Given the description of an element on the screen output the (x, y) to click on. 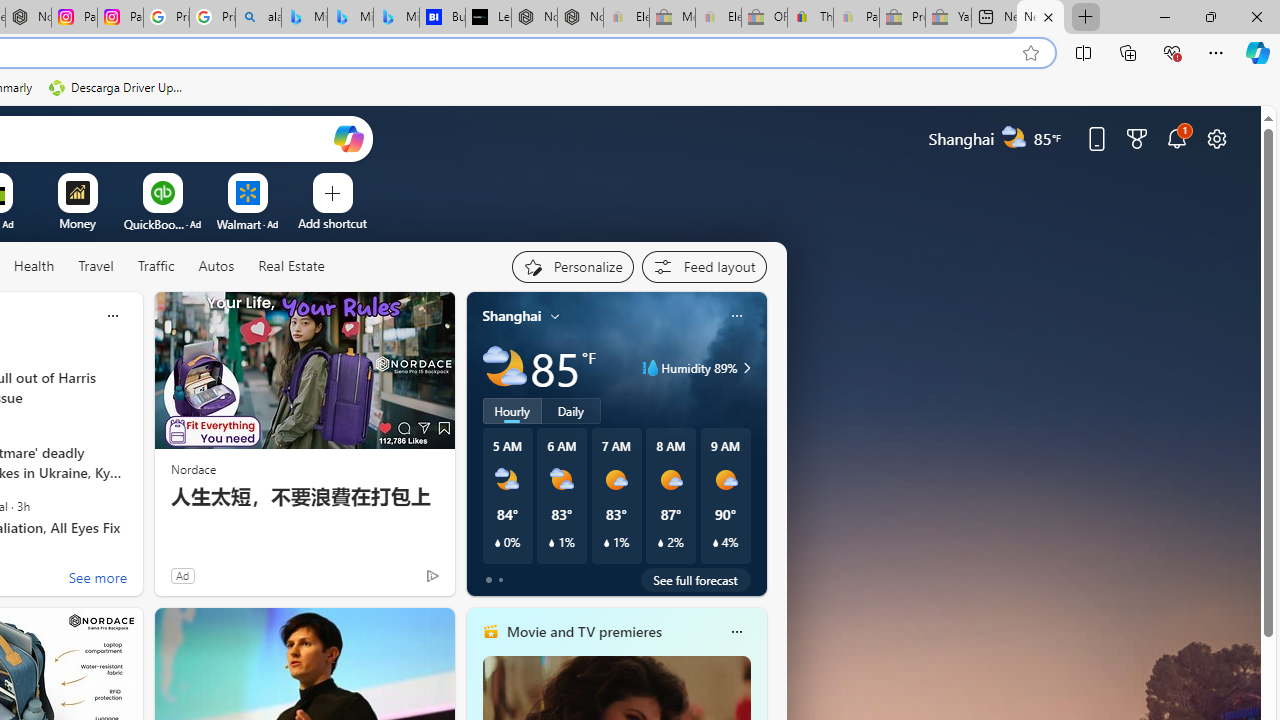
Microsoft Bing Travel - Shangri-La Hotel Bangkok (395, 17)
Hourly (511, 411)
Money (77, 223)
Health (33, 267)
Traffic (155, 267)
Partly cloudy (504, 368)
Class: weather-arrow-glyph (746, 367)
Autos (216, 267)
